Given the description of an element on the screen output the (x, y) to click on. 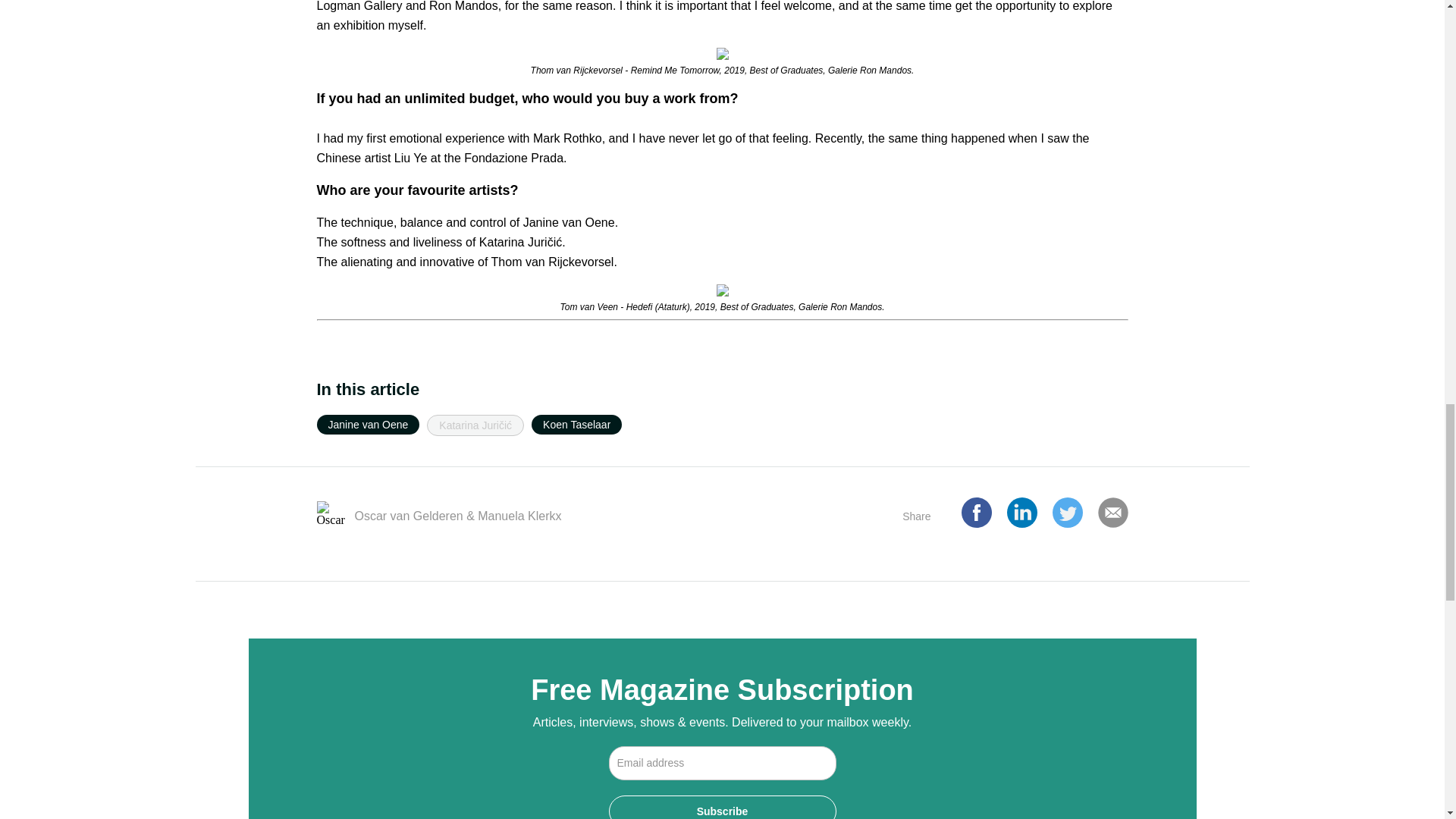
Janine van Oene (368, 424)
Koen Taselaar (576, 424)
Subscribe (721, 807)
